Given the description of an element on the screen output the (x, y) to click on. 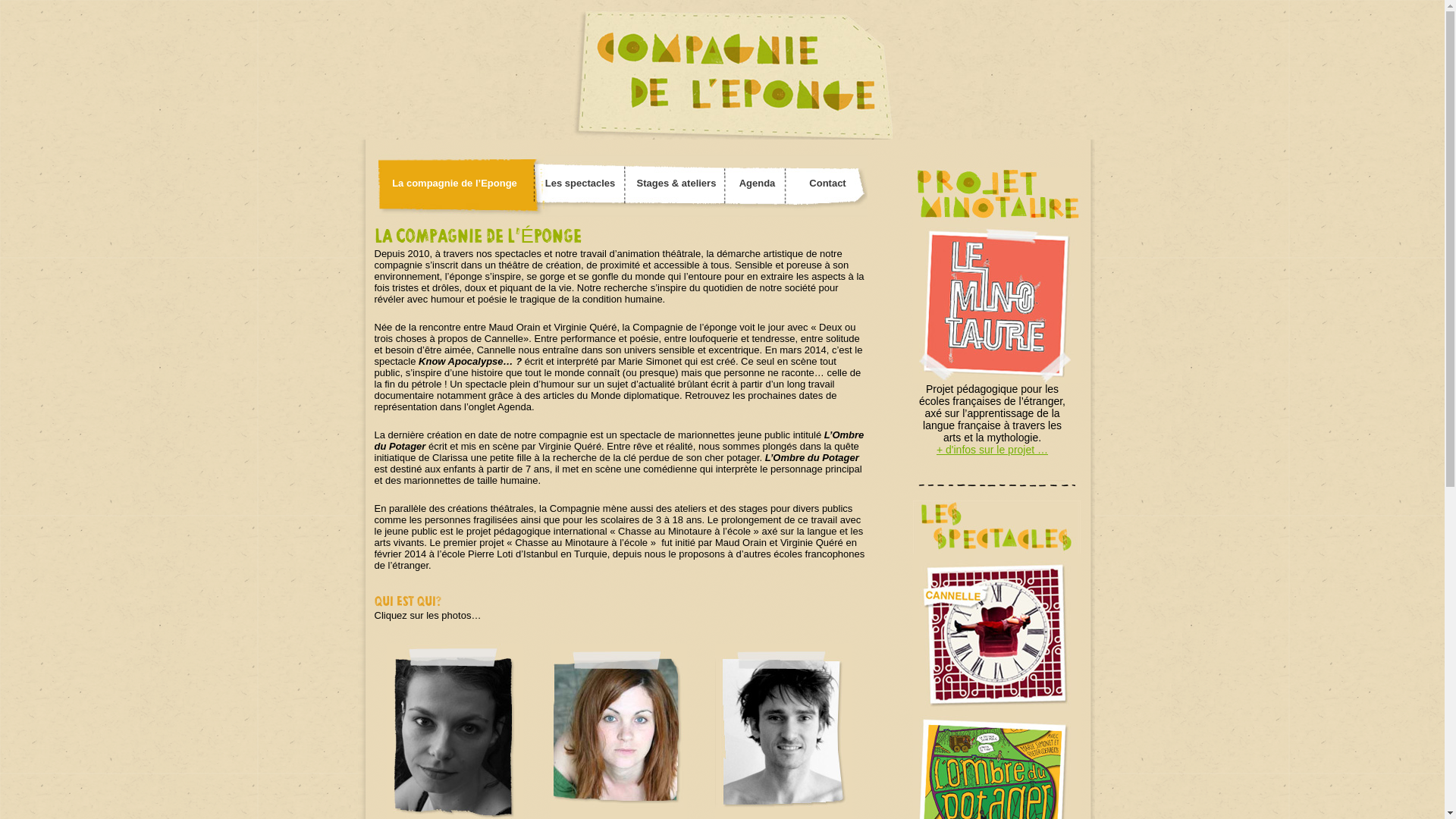
Les spectacles Element type: text (580, 182)
Stages & ateliers Element type: text (676, 182)
Agenda Element type: text (757, 182)
Contact Element type: text (827, 182)
